Given the description of an element on the screen output the (x, y) to click on. 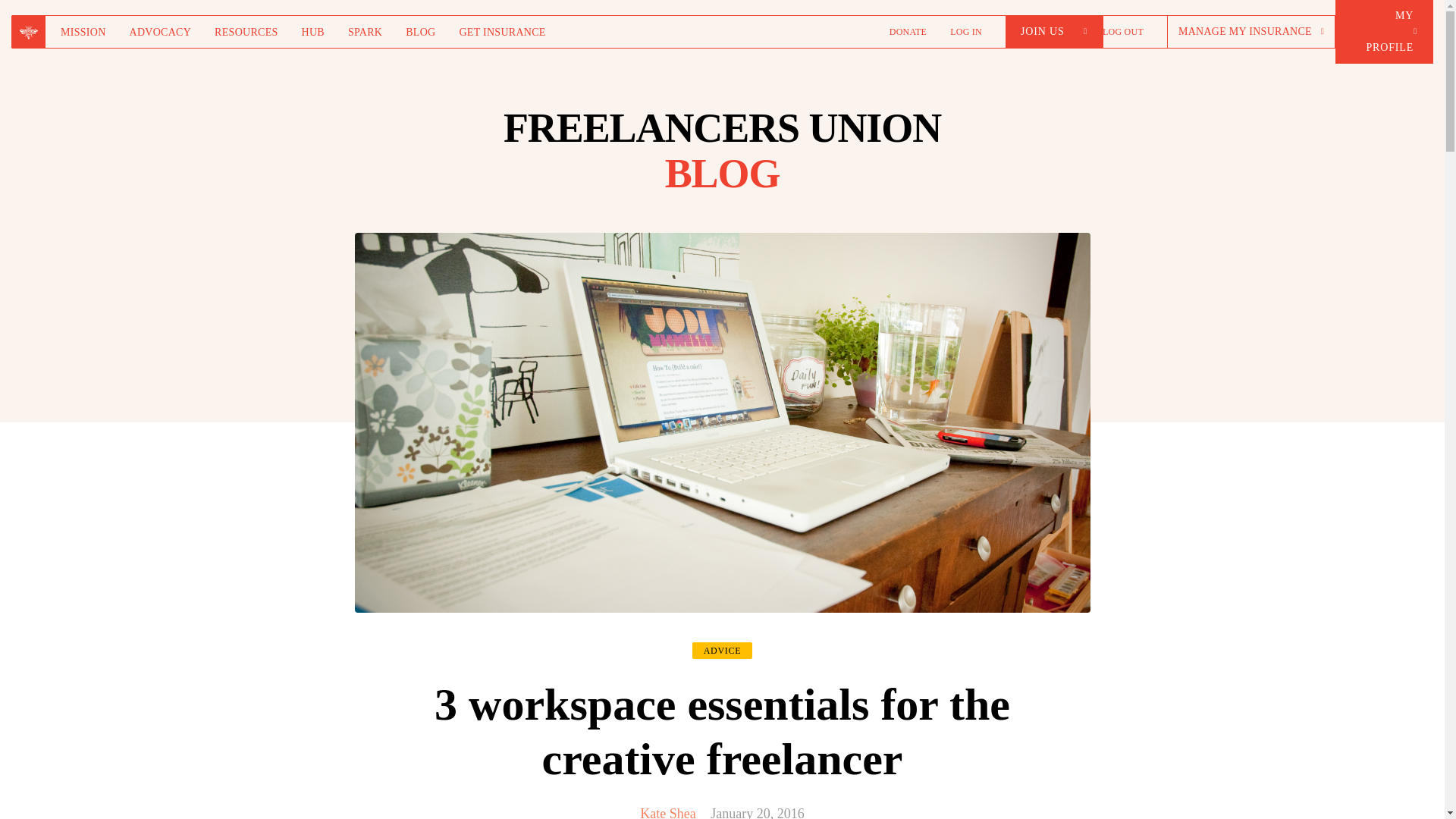
MANAGE MY INSURANCE (1251, 31)
Kate Shea (667, 812)
BLOG (420, 31)
SPARK (364, 31)
MISSION (83, 31)
GET INSURANCE (501, 31)
DONATE (907, 31)
JOIN US (1054, 31)
RESOURCES (246, 31)
LOG IN (965, 31)
LOG OUT (1122, 31)
ADVOCACY (160, 31)
MY PROFILE (1383, 31)
